Given the description of an element on the screen output the (x, y) to click on. 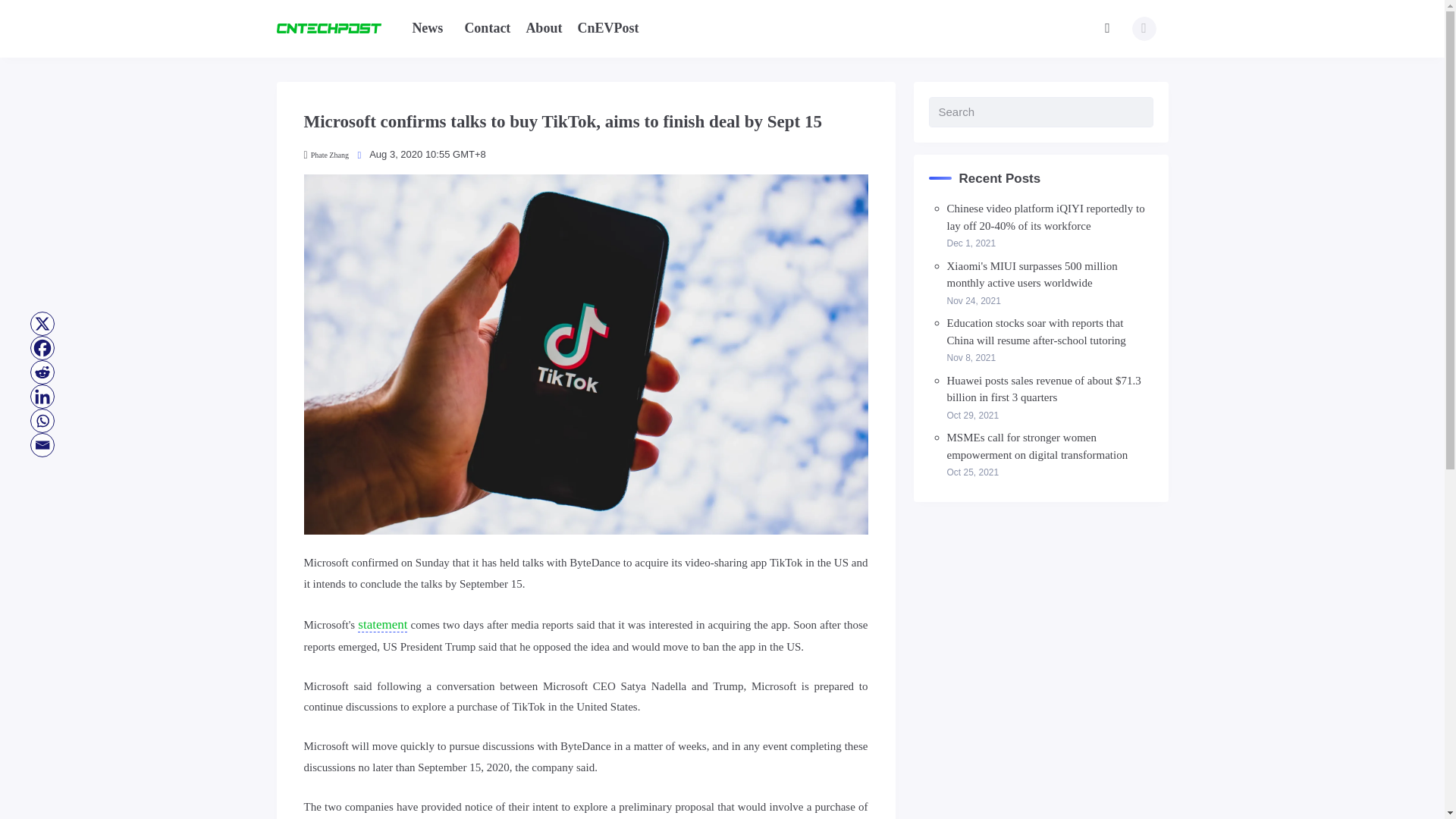
Email (42, 445)
Phate Zhang (324, 154)
Whatsapp (42, 420)
statement (382, 624)
Contact (487, 27)
Facebook (42, 347)
Reddit (42, 372)
X (42, 323)
CnEVPost (607, 27)
Linkedin (42, 396)
